Given the description of an element on the screen output the (x, y) to click on. 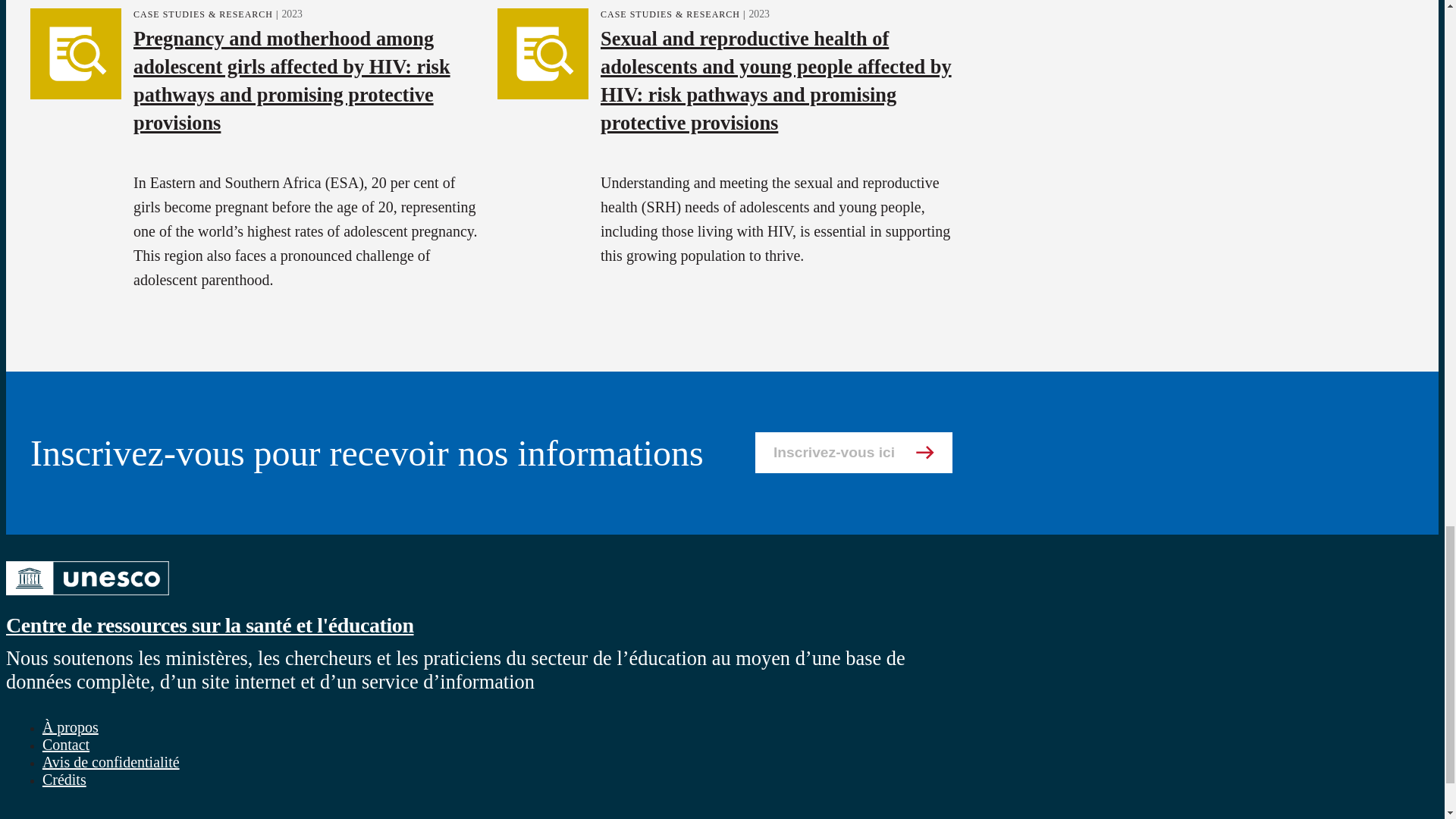
Home (209, 625)
Home (86, 597)
